Given the description of an element on the screen output the (x, y) to click on. 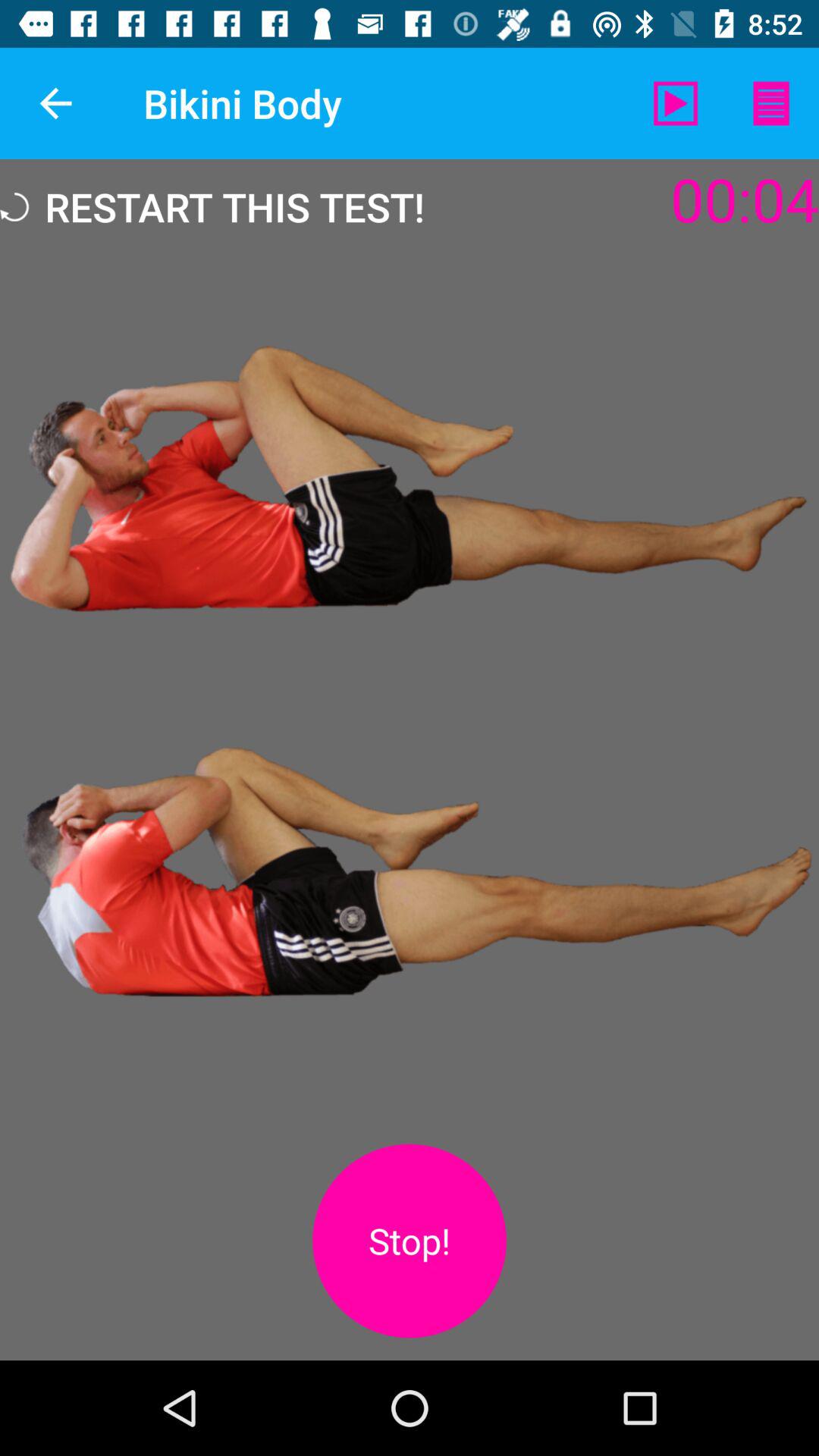
tap the app to the left of the bikini body icon (55, 103)
